Given the description of an element on the screen output the (x, y) to click on. 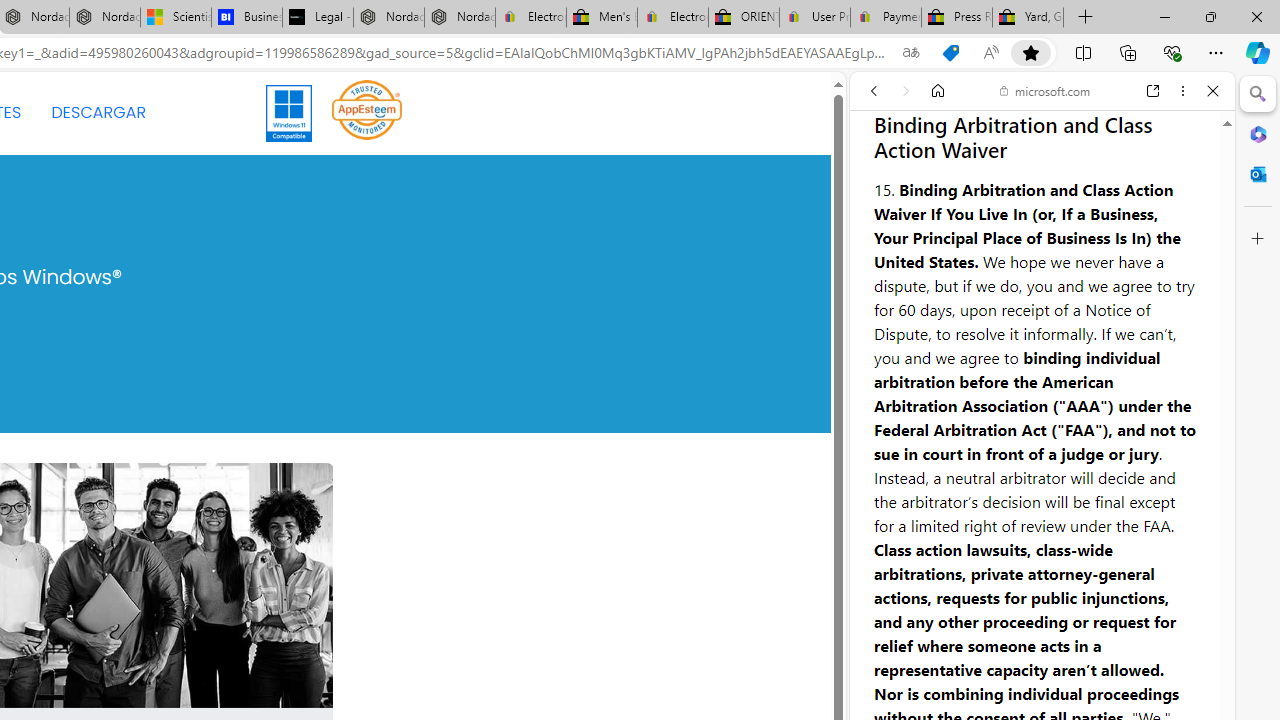
App Esteem (367, 109)
Minimize Search pane (1258, 94)
microsoft.com (1045, 90)
